Given the description of an element on the screen output the (x, y) to click on. 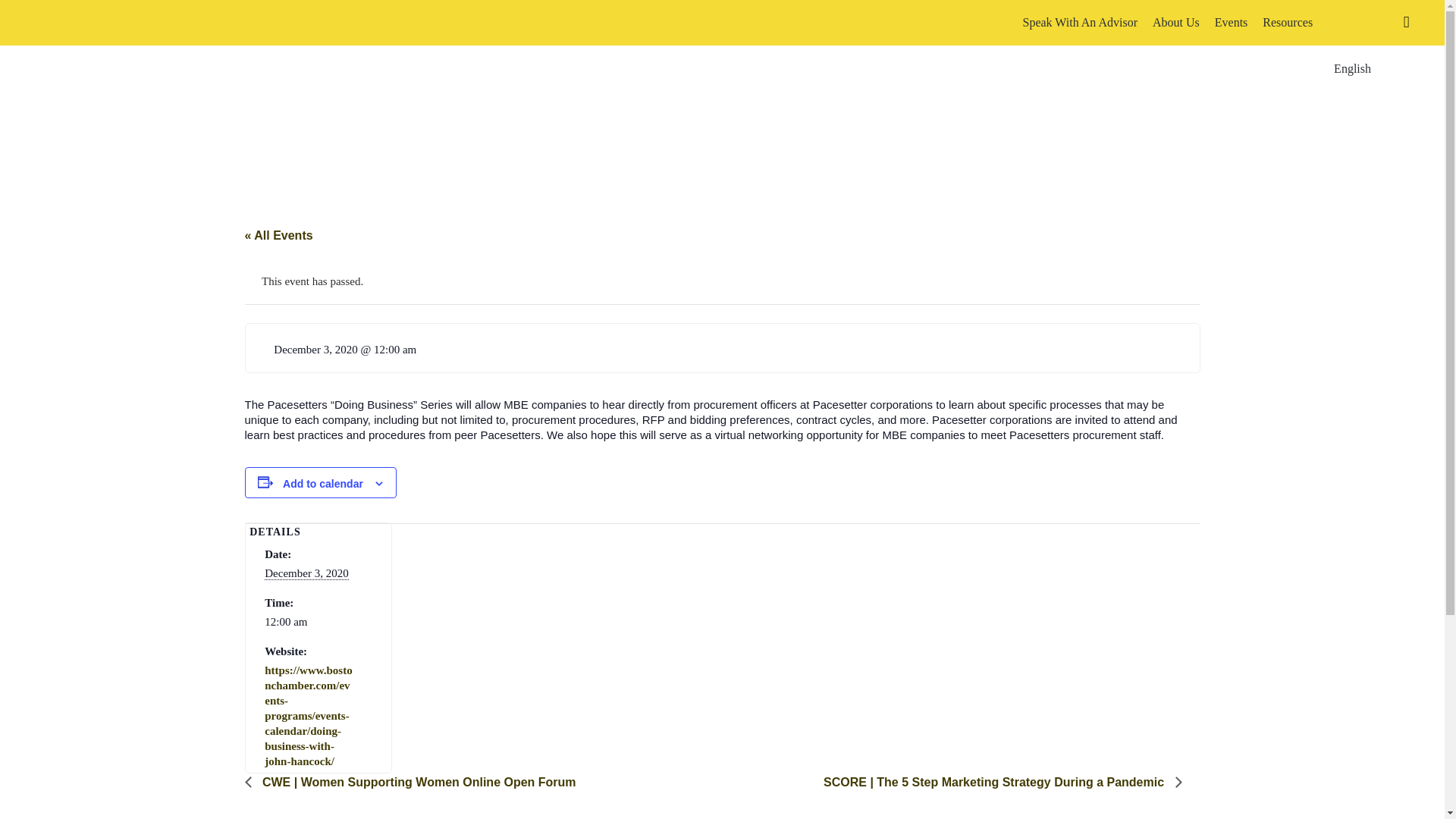
Small Business Strong (124, 22)
Add to calendar (322, 483)
English (1351, 22)
Resources (1287, 22)
About Us (1175, 22)
Events (1231, 22)
English (1351, 22)
2020-12-03 (308, 622)
